Given the description of an element on the screen output the (x, y) to click on. 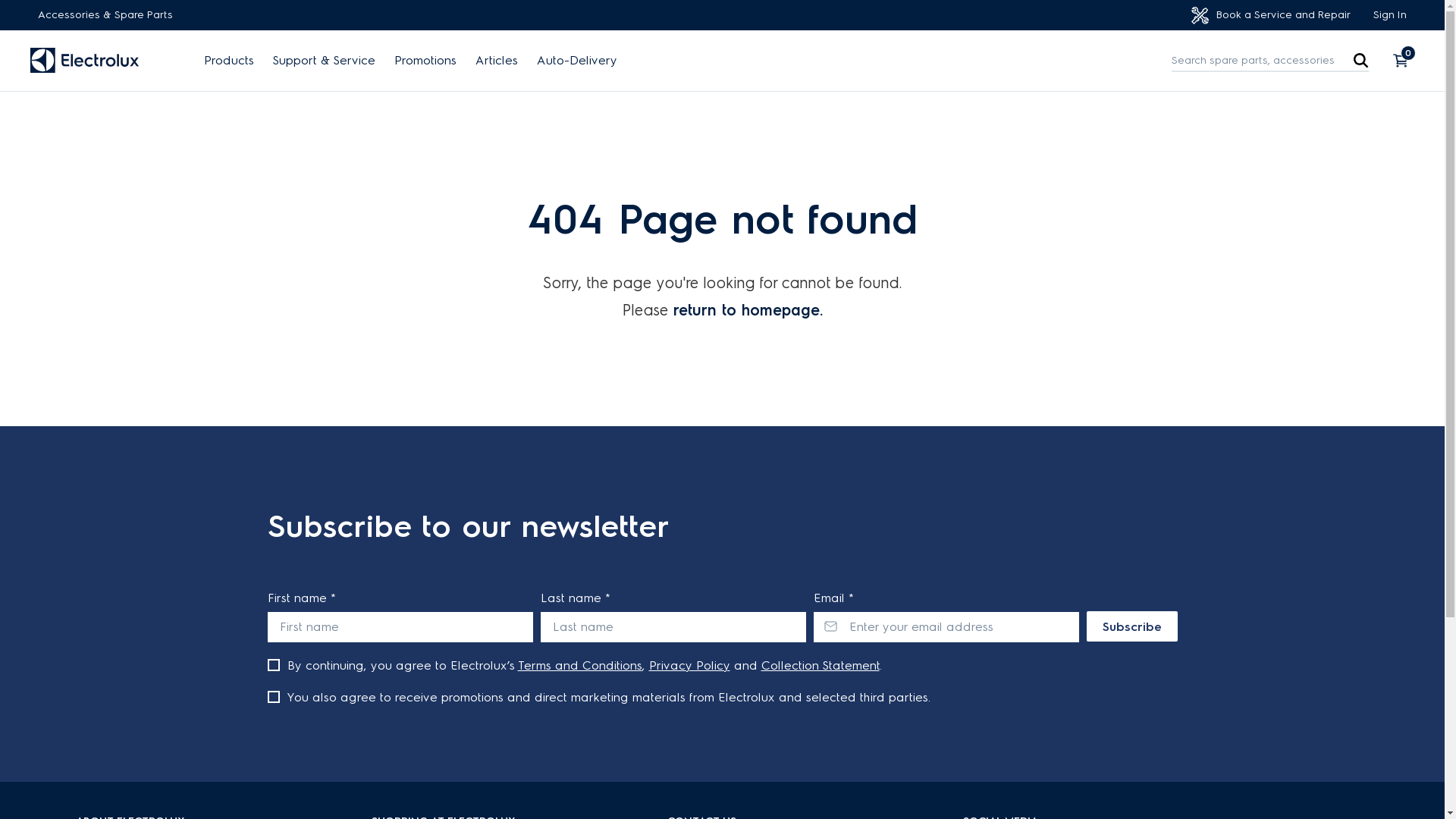
Privacy Policy Element type: text (689, 665)
Accessories & Spare Parts Element type: text (104, 14)
Subscribe Element type: text (1130, 626)
Terms and Conditions Element type: text (579, 665)
Promotions Element type: text (425, 60)
Collection Statement Element type: text (820, 665)
Book a Service and Repair Element type: text (1270, 15)
Support & Service Element type: text (324, 60)
Auto-Delivery Element type: text (576, 60)
Articles Element type: text (496, 60)
Submit Element type: text (22, 8)
Products Element type: text (228, 60)
return to homepage. Element type: text (747, 310)
Sign In Element type: text (1389, 15)
